Given the description of an element on the screen output the (x, y) to click on. 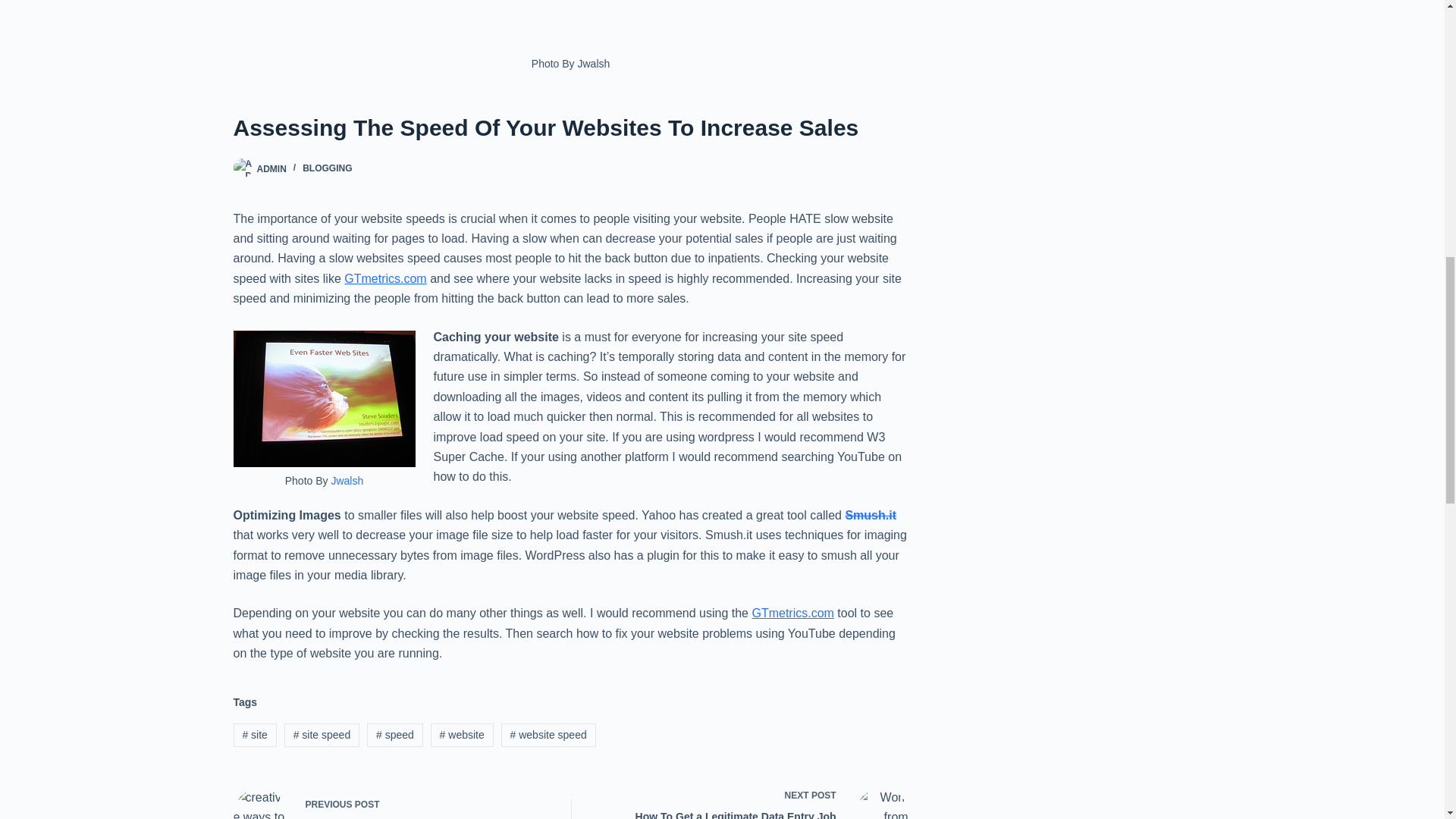
BLOGGING (327, 167)
Posts by Admin (270, 167)
GTmetrics.com (791, 612)
Smush.it (870, 514)
Assessing The Speed Of Your Websites To Increase Sales (570, 127)
Jwalsh (387, 801)
ADMIN (346, 480)
GTmetrics.com (270, 167)
